Given the description of an element on the screen output the (x, y) to click on. 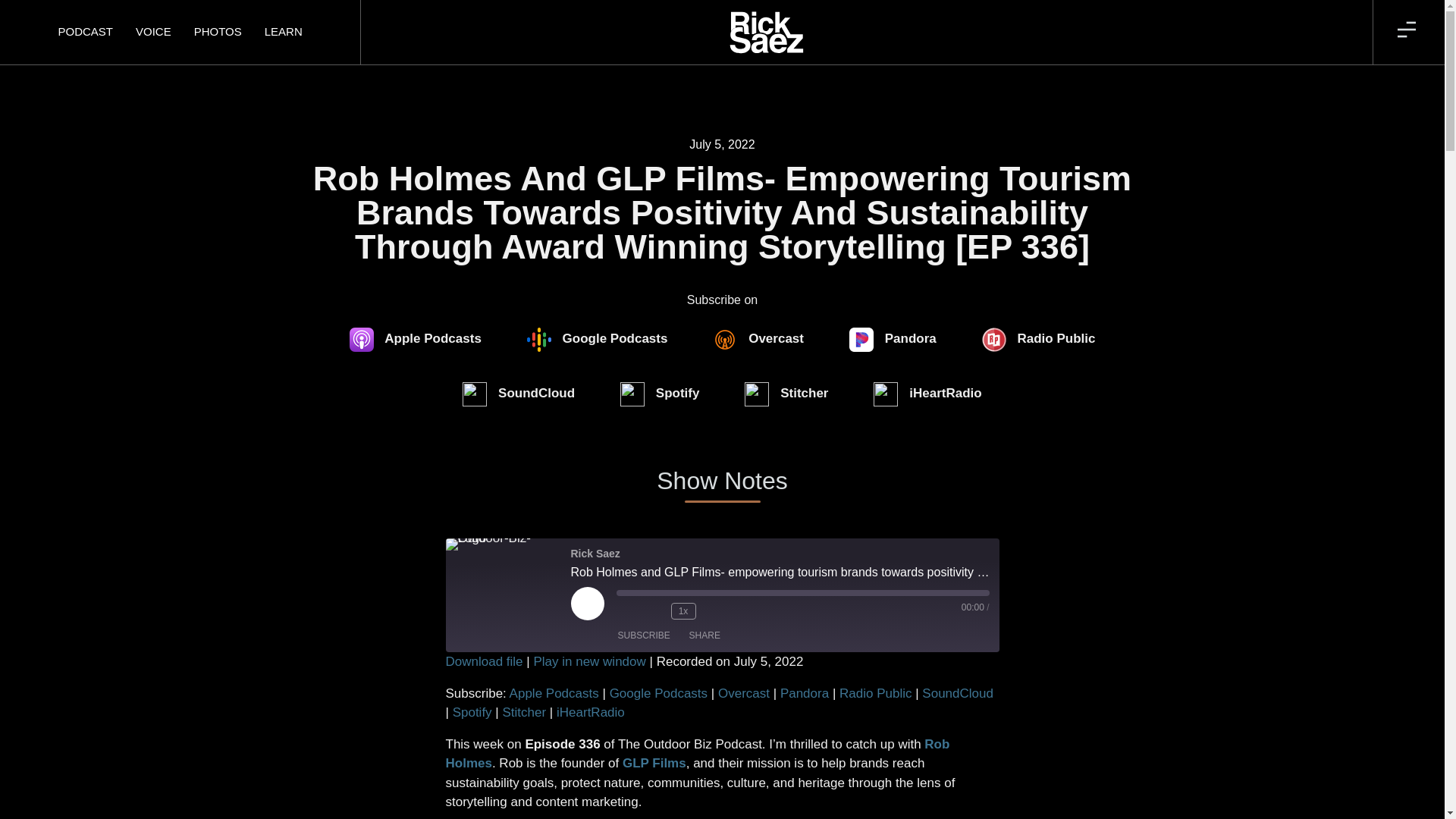
LEARN (283, 31)
Download file (483, 661)
VOICE (153, 31)
Apple Podcasts (415, 339)
Spotify (659, 394)
SoundCloud (517, 394)
Share (704, 635)
SUBSCRIBE (643, 635)
Radio Public (1038, 339)
iHeartRadio (927, 394)
